Given the description of an element on the screen output the (x, y) to click on. 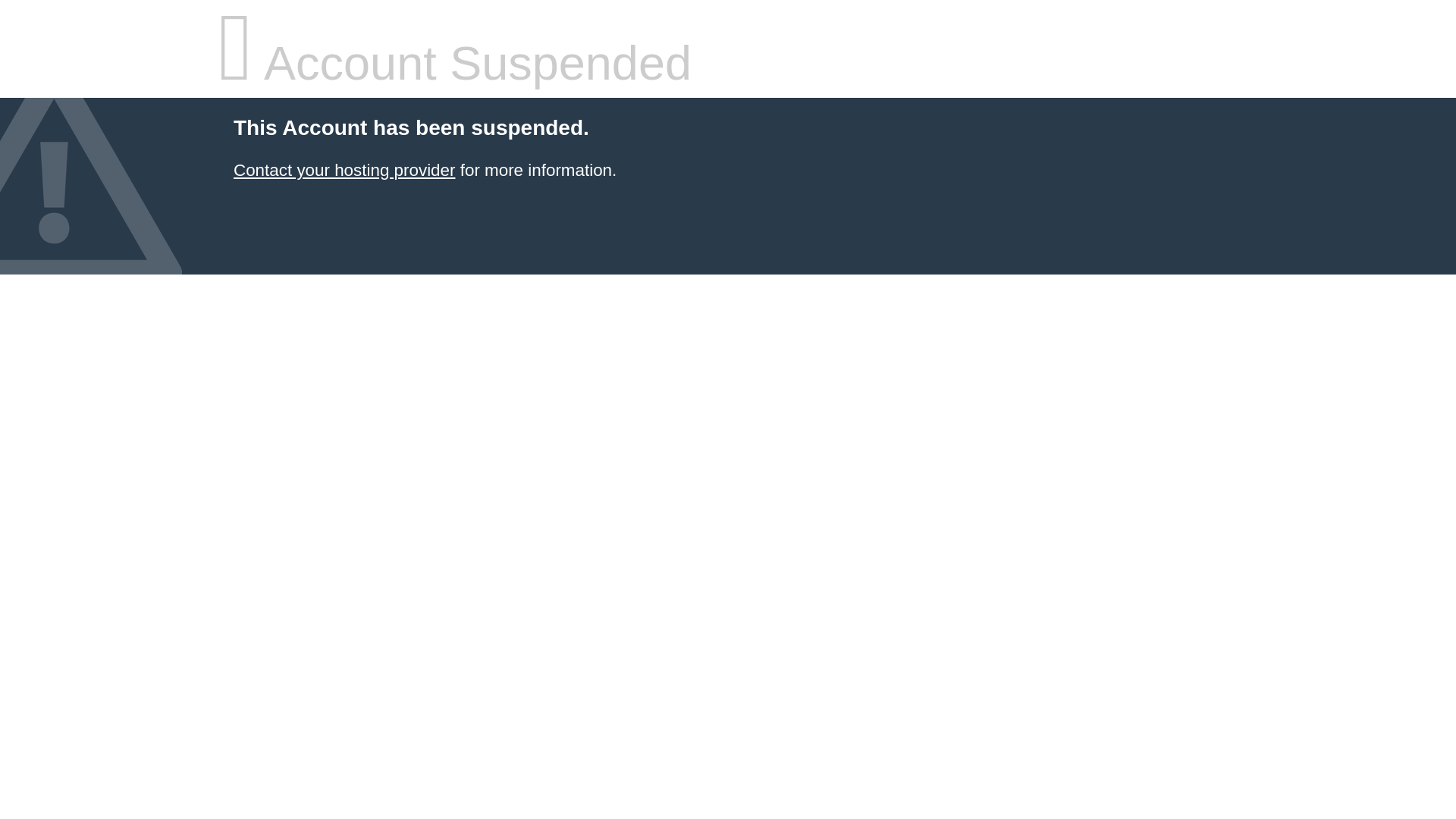
Contact your hosting provider (343, 169)
